Given the description of an element on the screen output the (x, y) to click on. 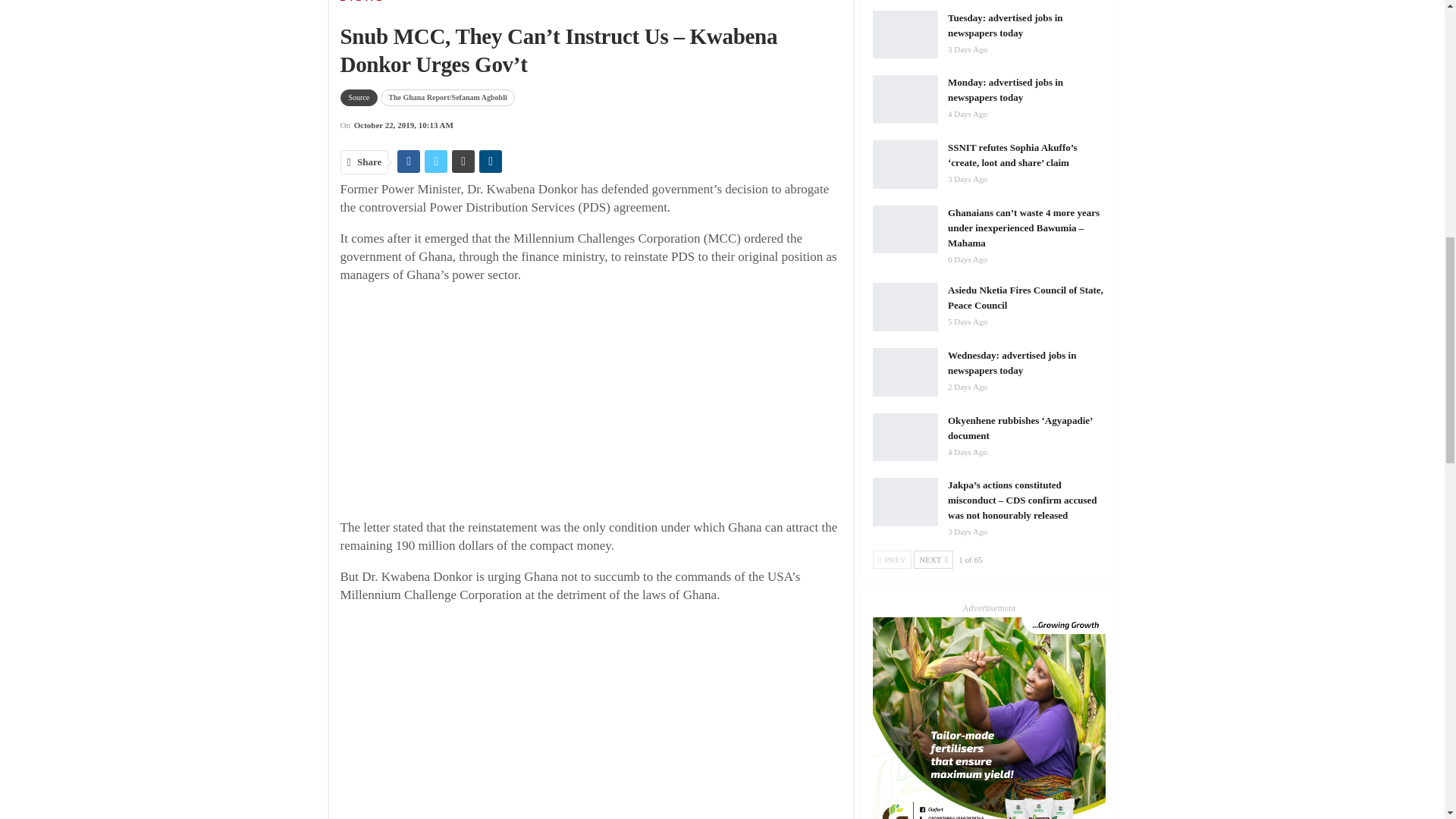
Tuesday: advertised jobs in newspapers today (904, 34)
News (453, 5)
